Given the description of an element on the screen output the (x, y) to click on. 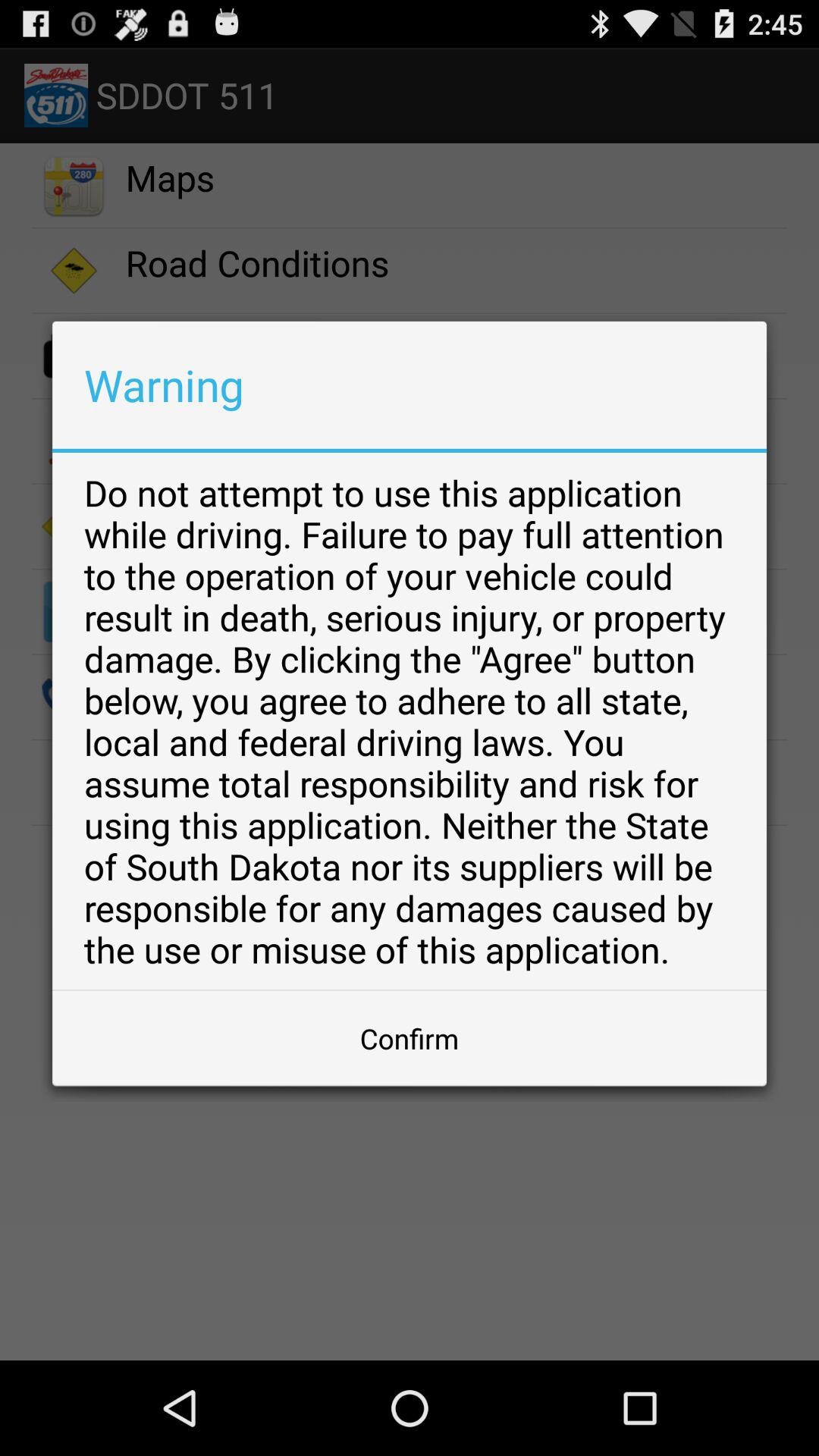
swipe until the confirm button (409, 1038)
